Given the description of an element on the screen output the (x, y) to click on. 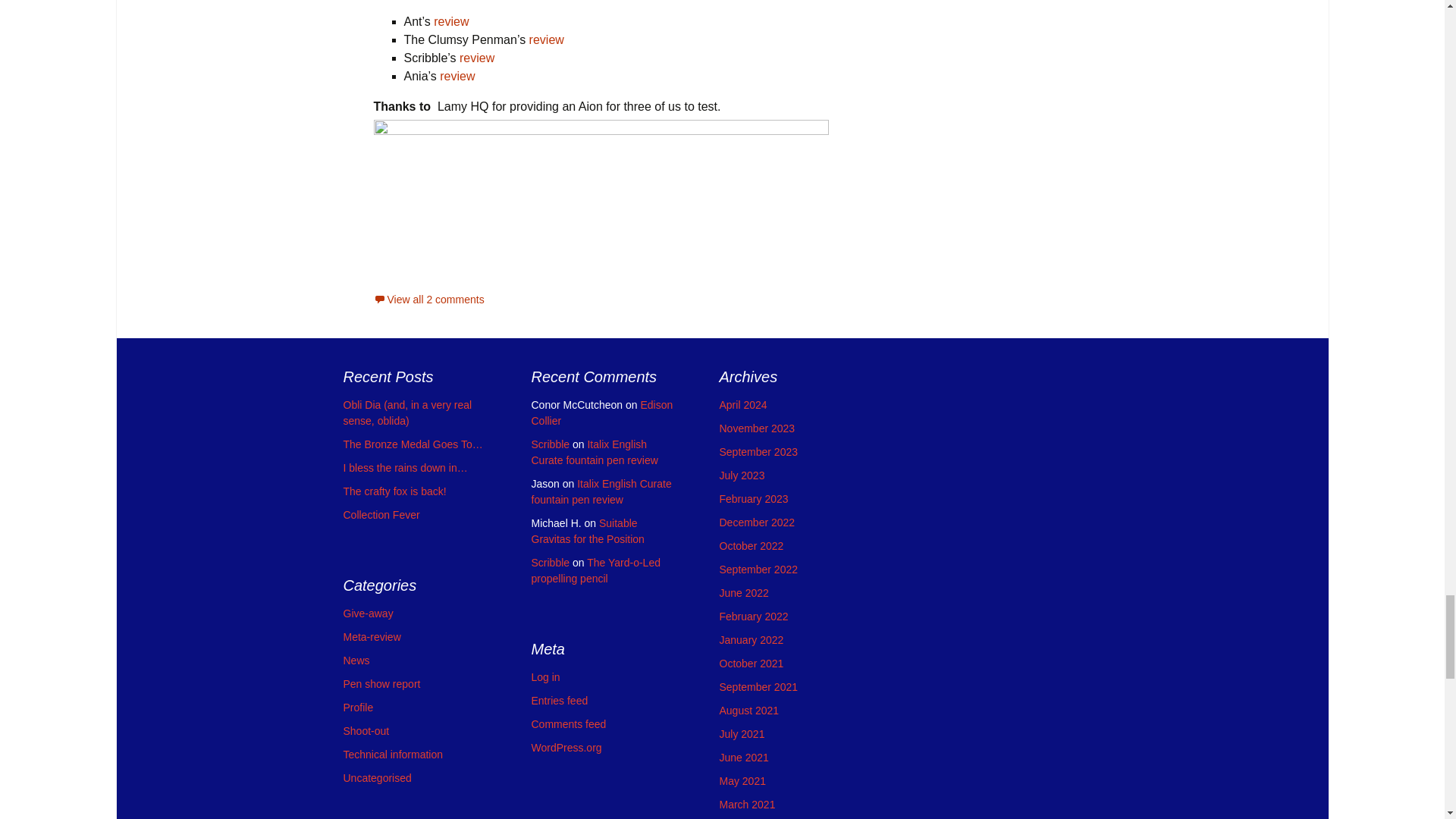
review (546, 39)
Suitable Gravitas for the Position (587, 530)
review (477, 57)
review (450, 21)
The crafty fox is back! (393, 491)
Italix English Curate fountain pen review (601, 491)
Edison Collier (601, 412)
Scribble (550, 562)
Italix English Curate fountain pen review (594, 452)
Collection Fever (380, 514)
review  (459, 75)
Scribble (550, 444)
View all 2 comments (427, 299)
